Given the description of an element on the screen output the (x, y) to click on. 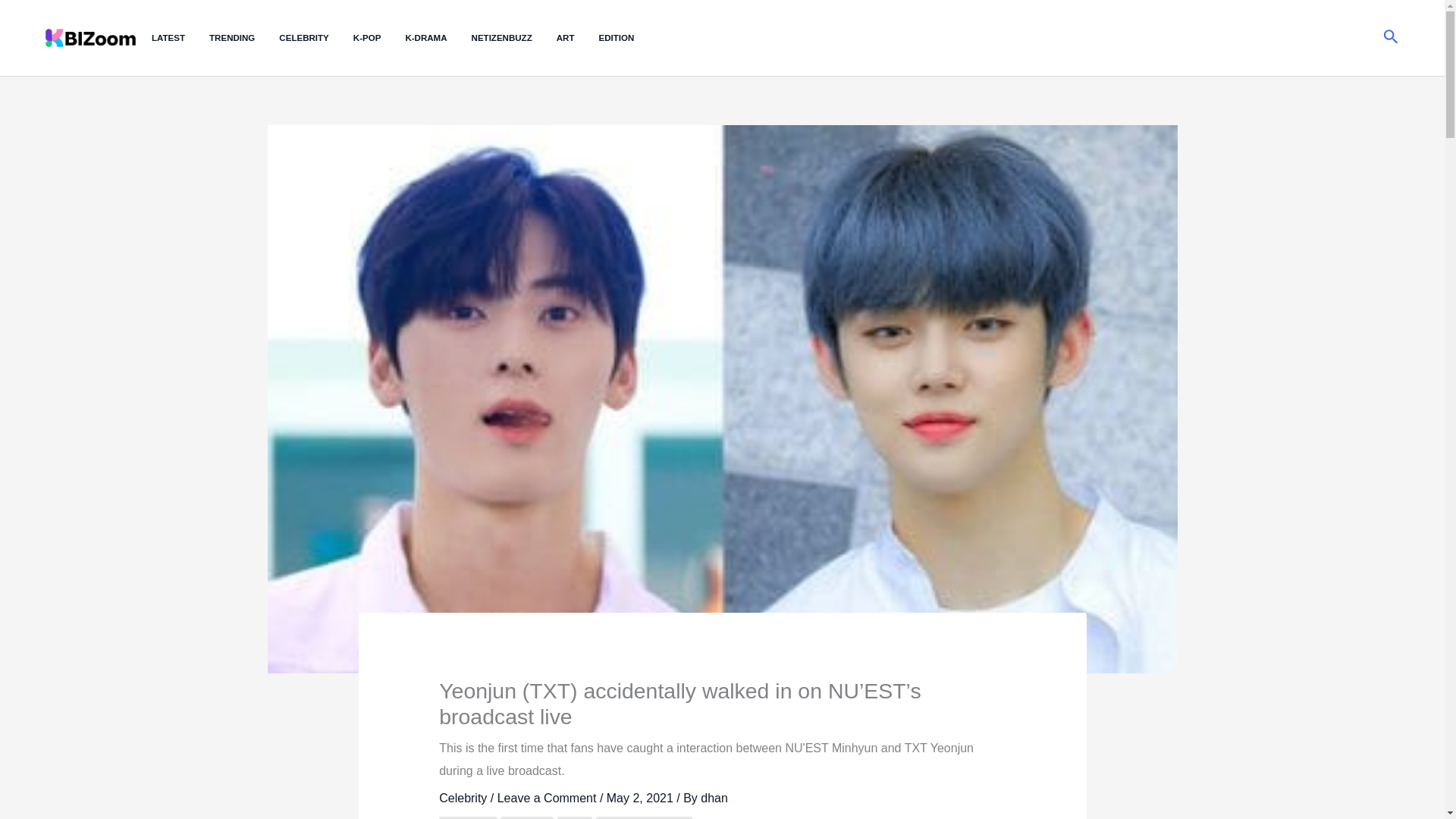
TXT (574, 817)
CELEBRITY (315, 38)
NUEST (526, 817)
Celebrity (462, 797)
Leave a Comment (546, 797)
View all posts by dhan (714, 797)
NETIZENBUZZ (513, 38)
dhan (714, 797)
TRENDING (244, 38)
minhyun (467, 817)
